Given the description of an element on the screen output the (x, y) to click on. 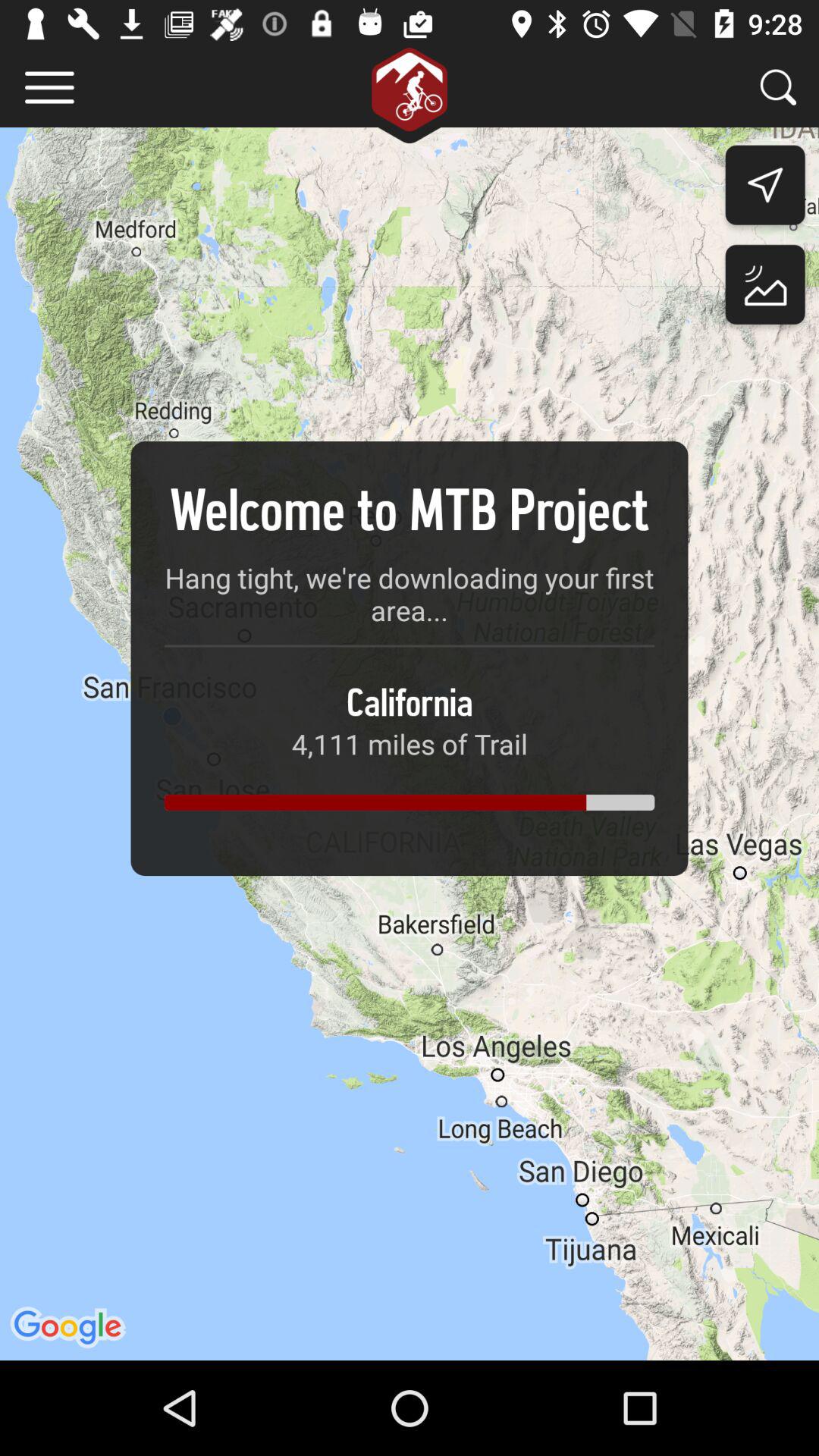
search (778, 87)
